Given the description of an element on the screen output the (x, y) to click on. 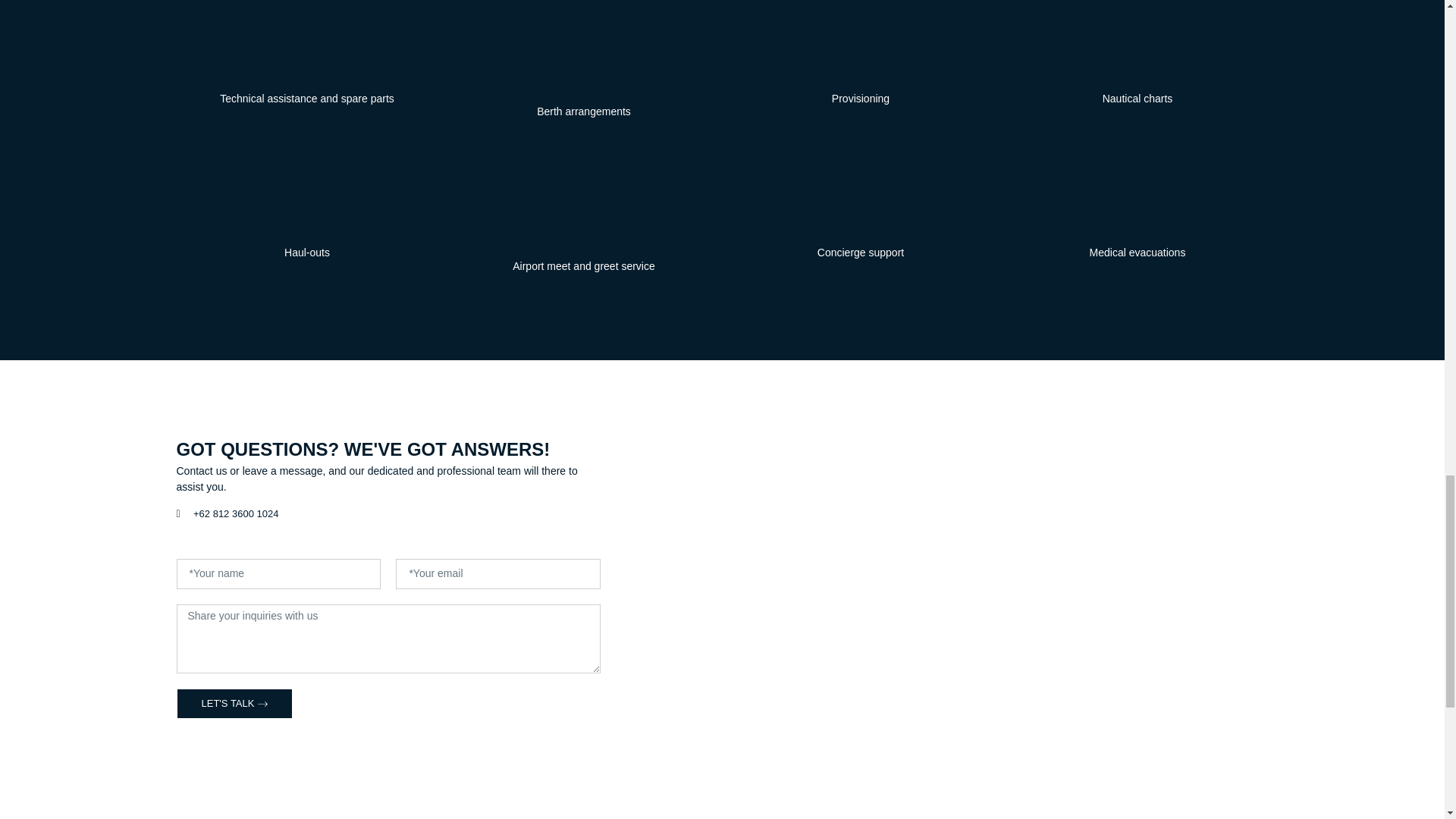
LET'S TALK (234, 703)
